Given the description of an element on the screen output the (x, y) to click on. 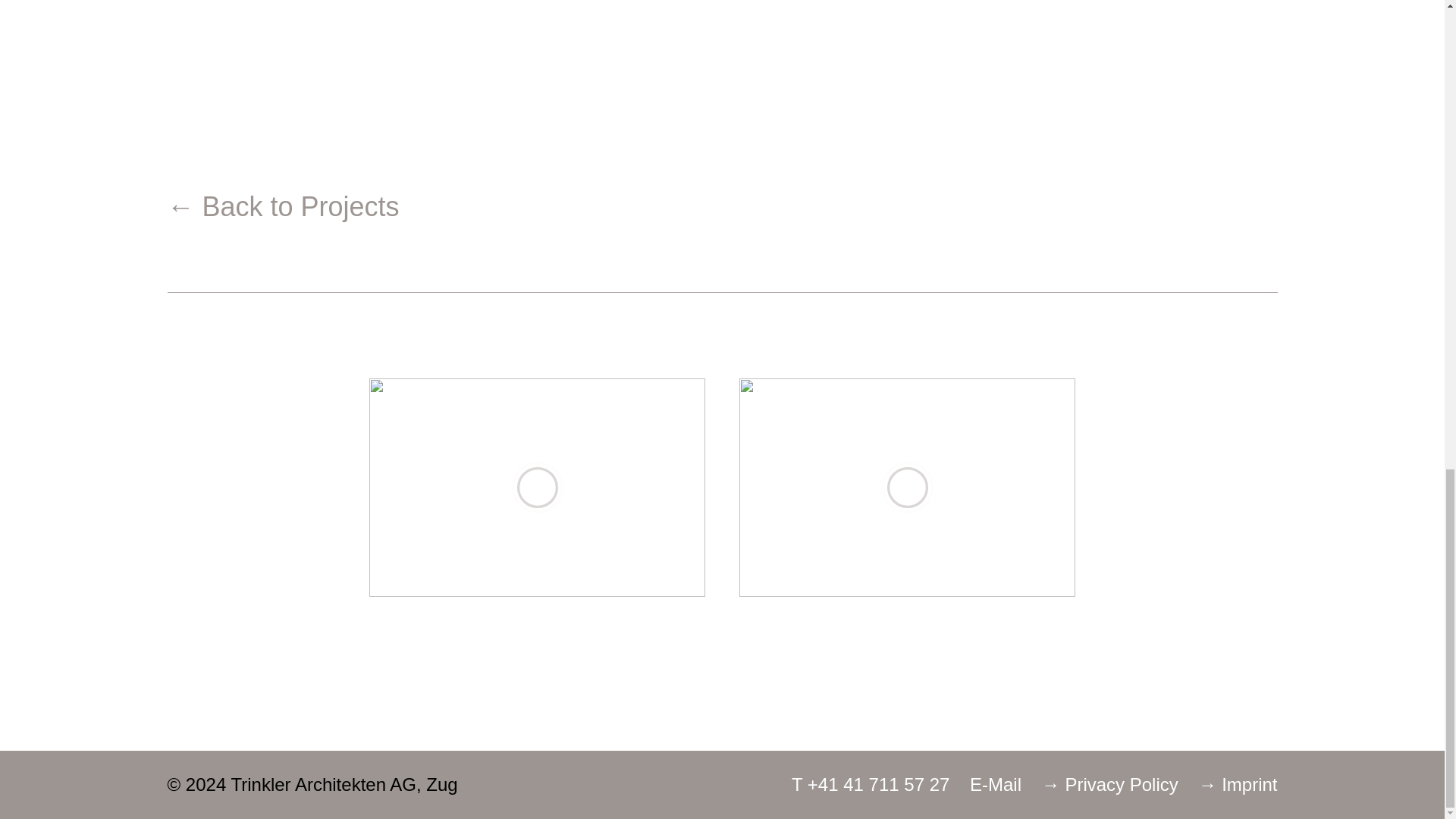
Privacy Policy (1109, 783)
Back to Projects (282, 205)
Imprint (1237, 783)
E-Mail (995, 783)
